Given the description of an element on the screen output the (x, y) to click on. 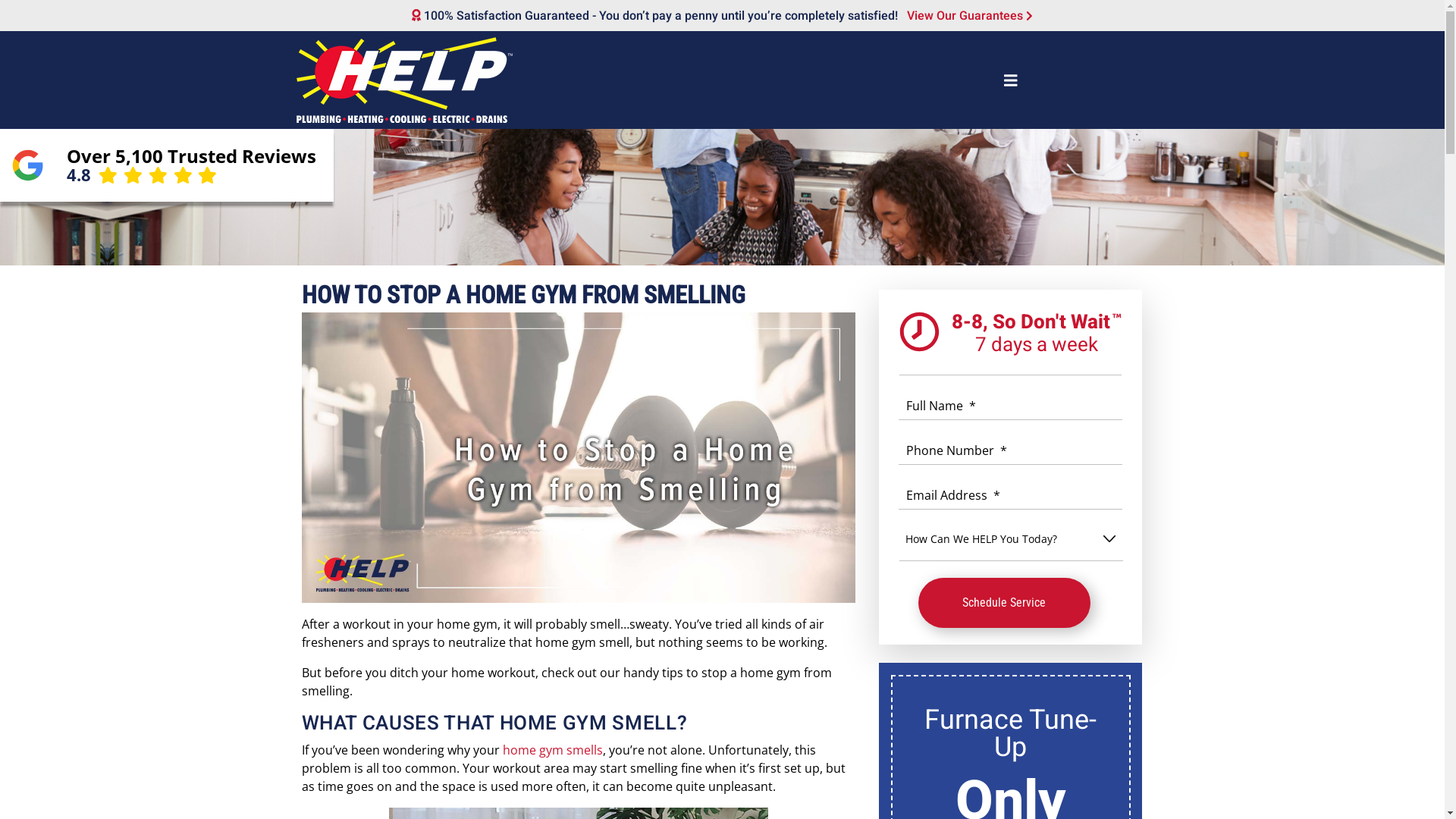
View Our Guarantees Element type: text (966, 14)
home gym smells Element type: text (552, 749)
Over 5,100
Trusted Reviews
4.8 Element type: text (166, 164)
Schedule Service Element type: text (1003, 602)
